Given the description of an element on the screen output the (x, y) to click on. 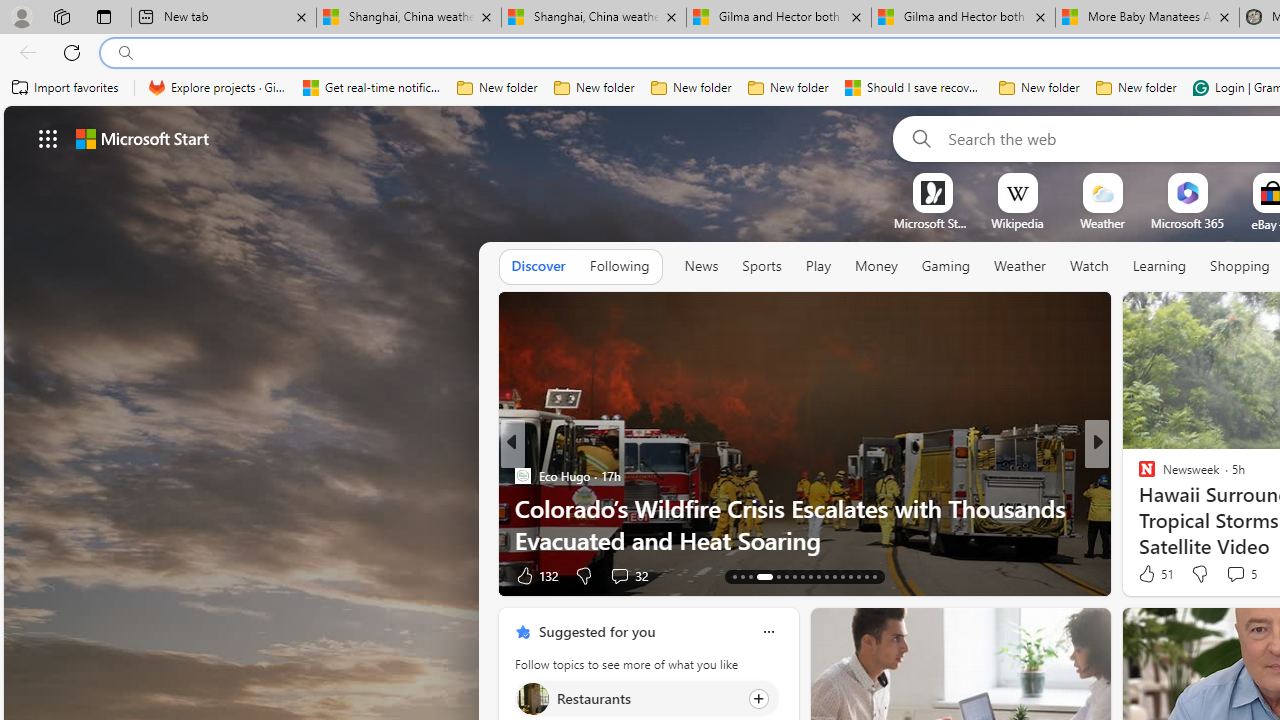
Import favorites (65, 88)
View comments 3 Comment (1234, 574)
View comments 5 Comment (1240, 574)
Supreme Court Decision Could Cost Donald Trump the Election (804, 523)
Class: icon-img (768, 632)
